Given the description of an element on the screen output the (x, y) to click on. 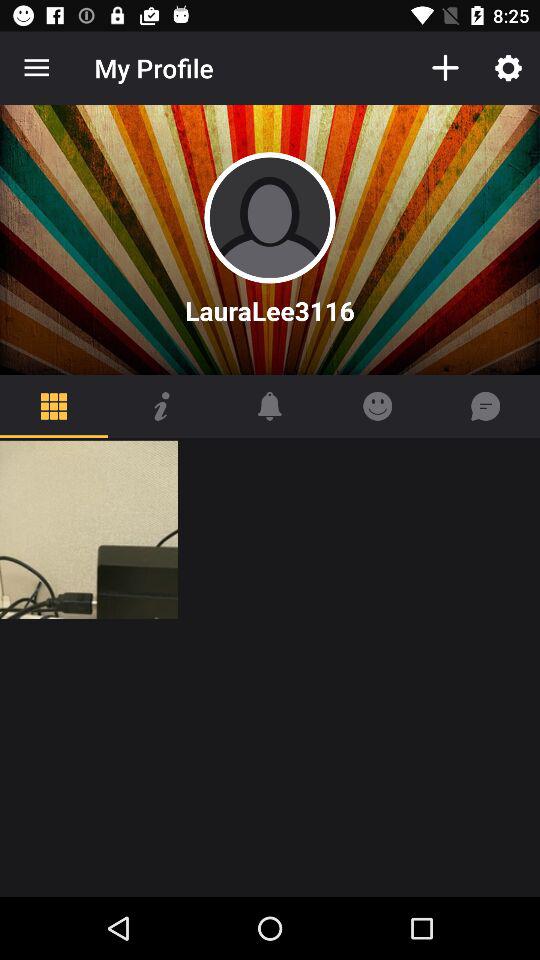
select item next to the my profile icon (36, 68)
